Given the description of an element on the screen output the (x, y) to click on. 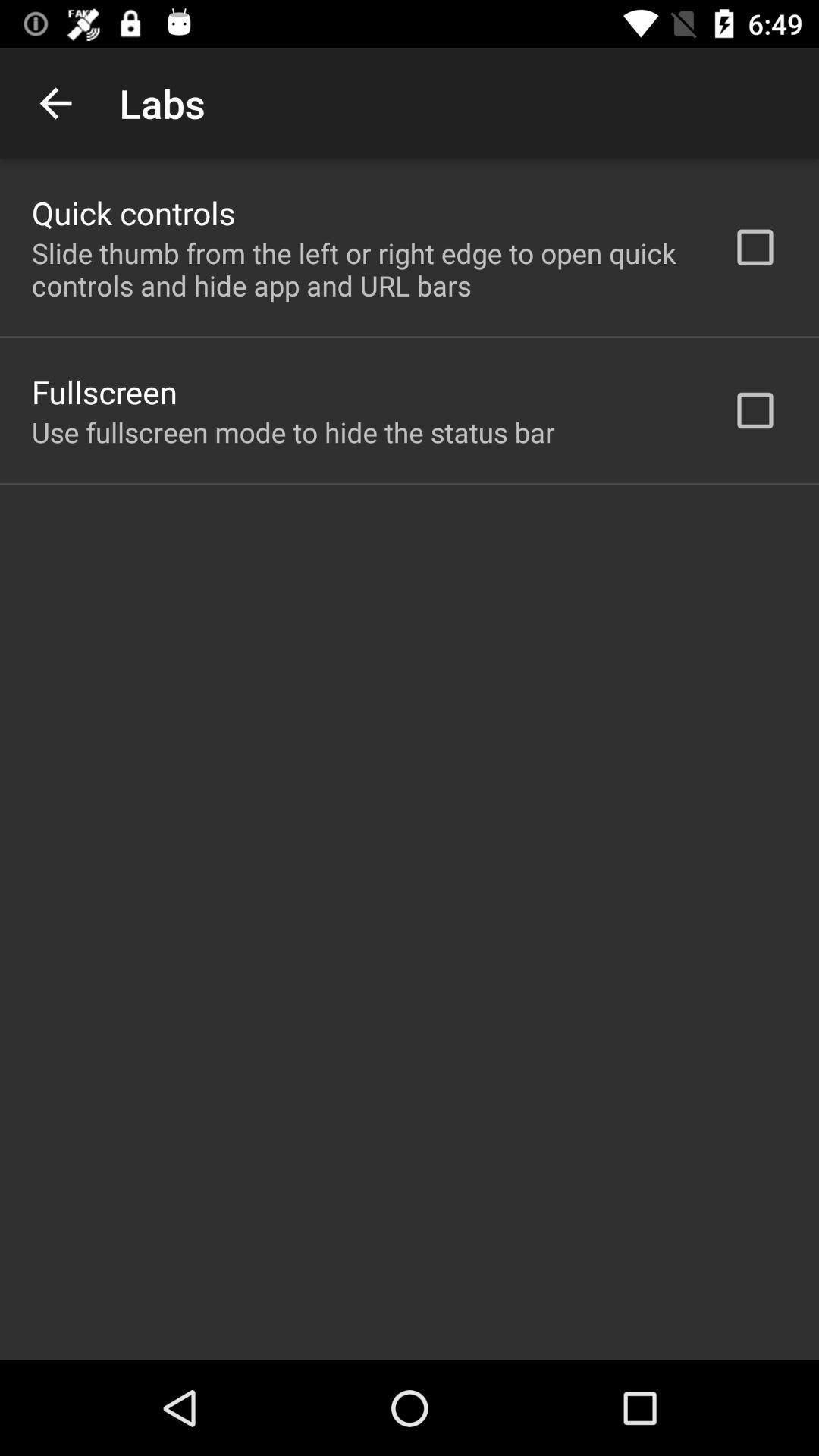
flip until slide thumb from icon (361, 269)
